Given the description of an element on the screen output the (x, y) to click on. 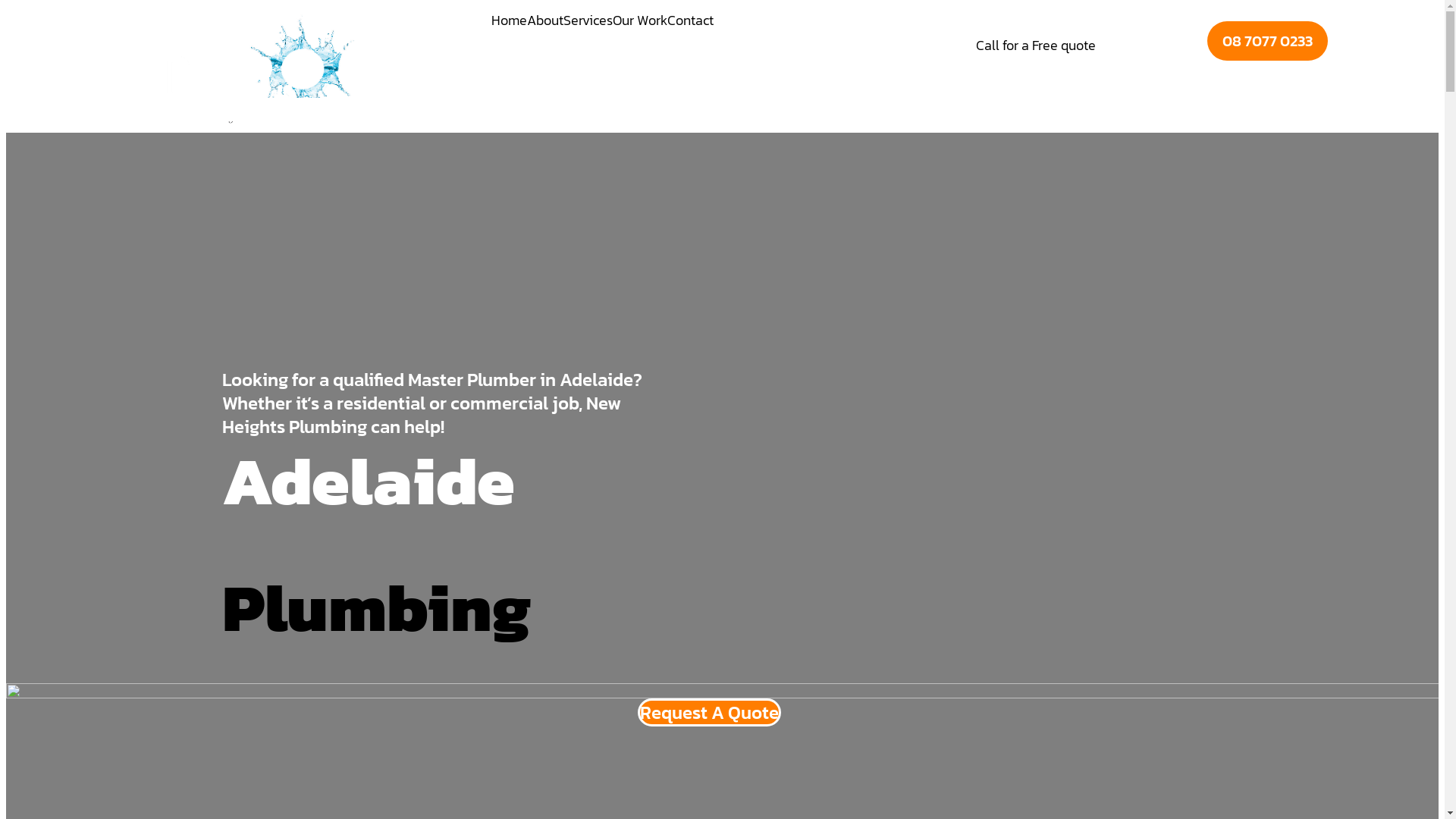
Request A Quote Element type: text (708, 712)
Home Element type: text (509, 20)
About Element type: text (545, 20)
Services Element type: text (587, 20)
08 7077 0233 Element type: text (1267, 40)
Contact Element type: text (690, 20)
Our Work Element type: text (639, 20)
